Given the description of an element on the screen output the (x, y) to click on. 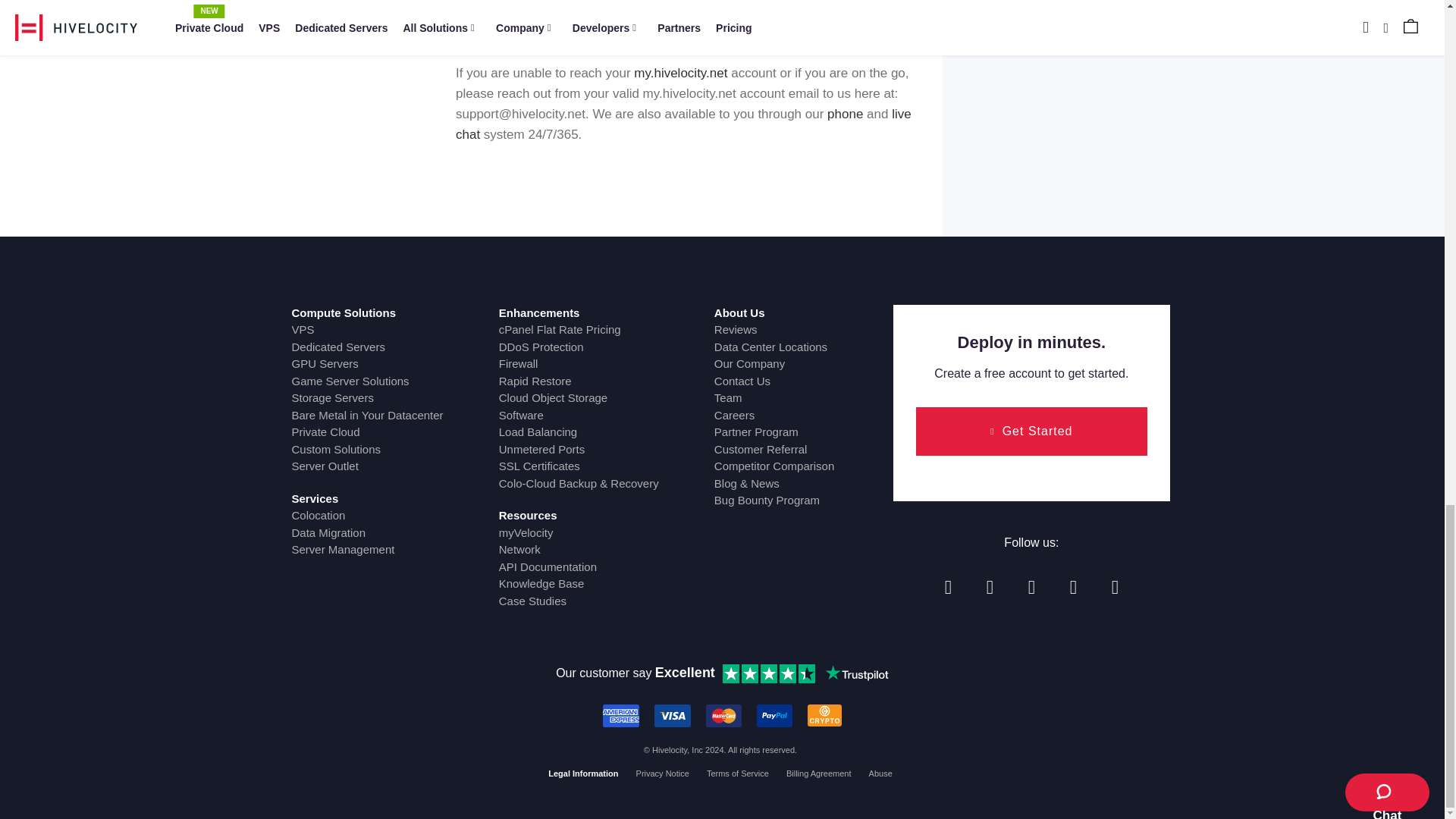
Hivelocity on Github (1072, 586)
Mastercard (724, 715)
Trustpilot logo (856, 673)
American Express (620, 715)
Hivelocity on Discord (1115, 586)
Visa (671, 715)
Hivelocity on Twitter (989, 586)
Hivelocity on Linkedin (1031, 586)
Hivelocity on Facebook (947, 586)
